Given the description of an element on the screen output the (x, y) to click on. 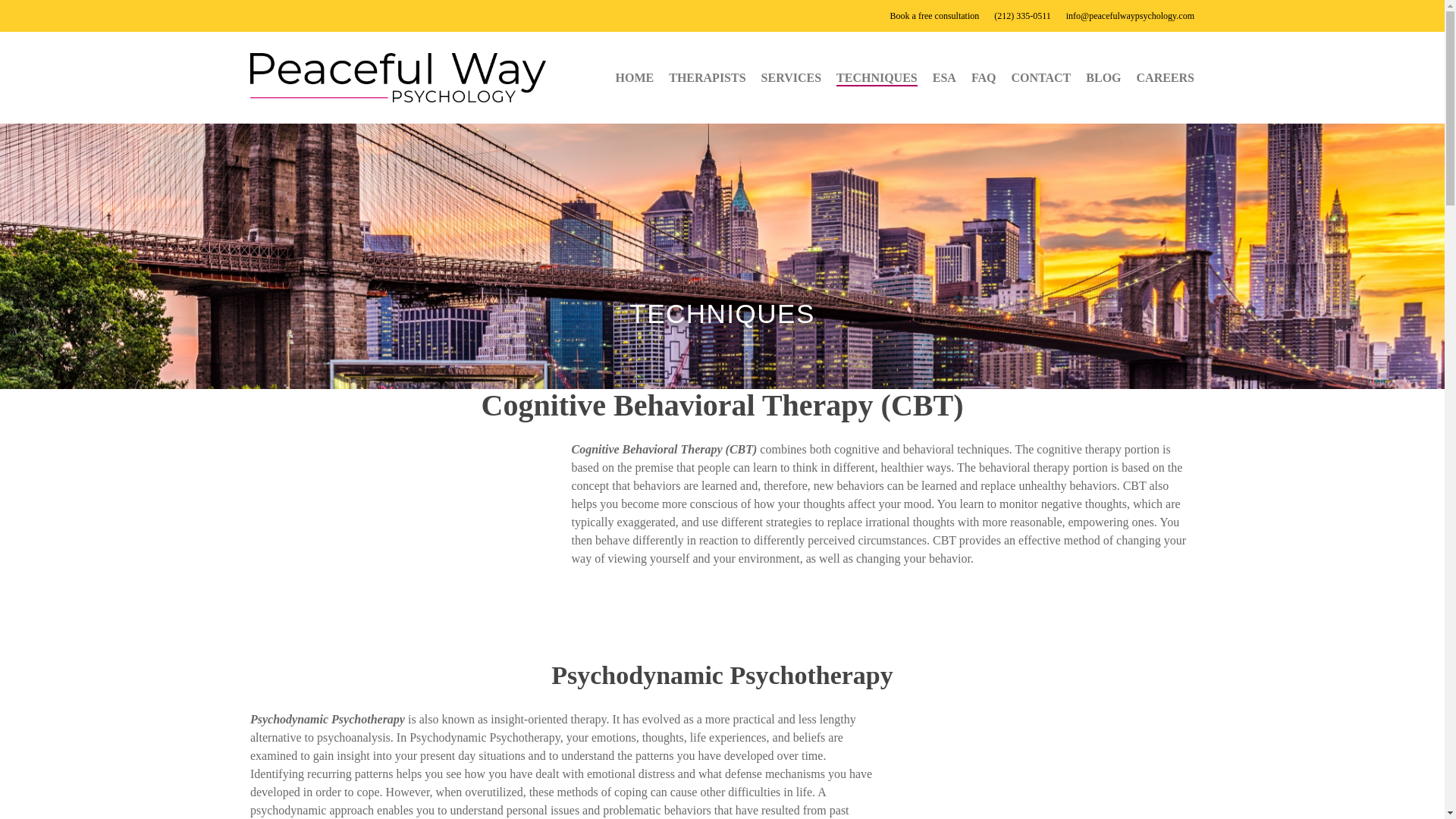
CAREERS (1165, 77)
THERAPISTS (706, 77)
Book a free consultation (934, 15)
CONTACT (1040, 77)
TECHNIQUES (876, 77)
HOME (634, 77)
FAQ (983, 77)
BLOG (1103, 77)
SERVICES (791, 77)
ESA (944, 77)
